Given the description of an element on the screen output the (x, y) to click on. 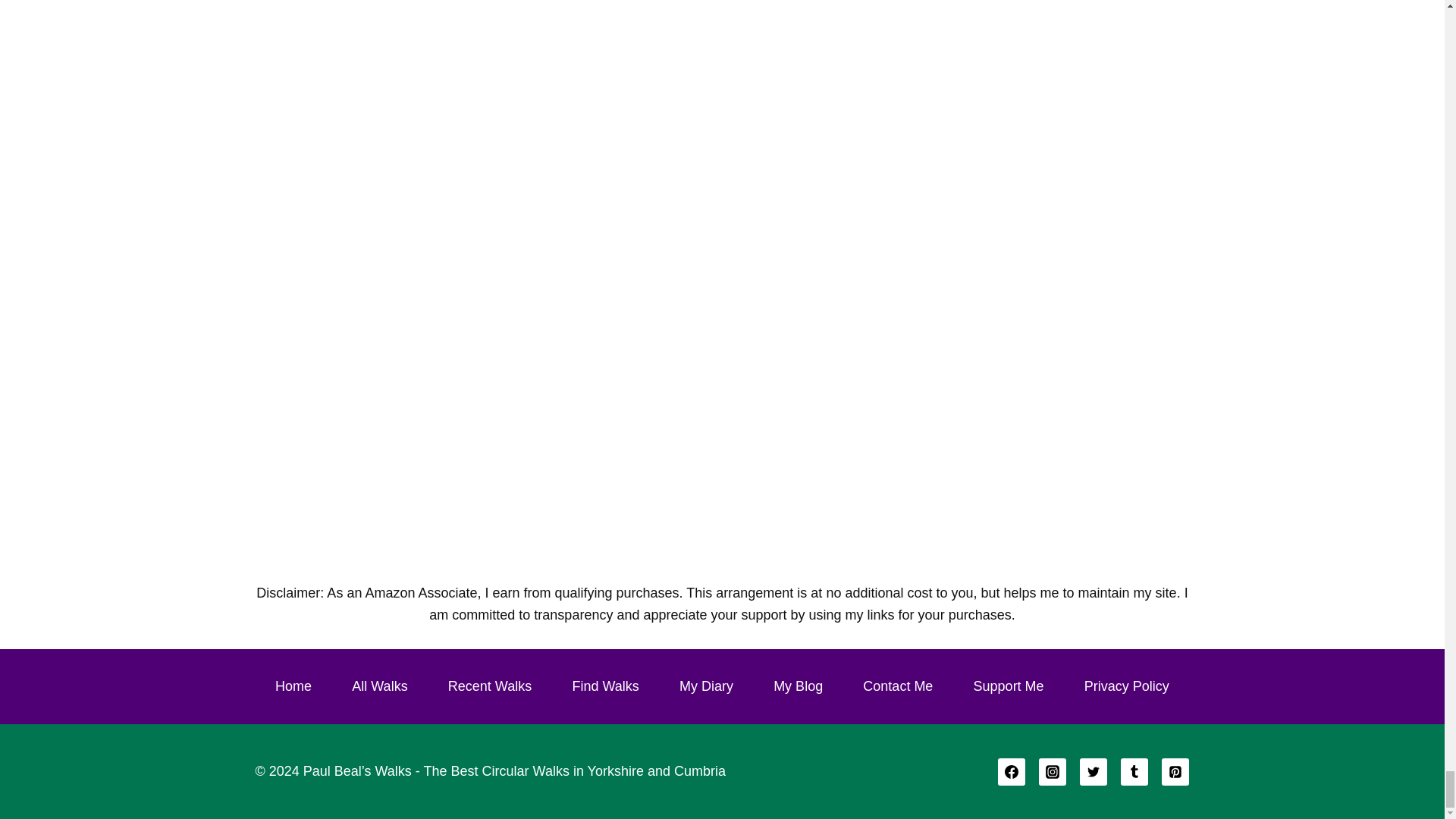
Support Me (1008, 686)
All Walks (379, 686)
Recent Walks (489, 686)
Contact Me (899, 686)
Home (293, 686)
My Diary (706, 686)
My Blog (798, 686)
Find Walks (605, 686)
